Given the description of an element on the screen output the (x, y) to click on. 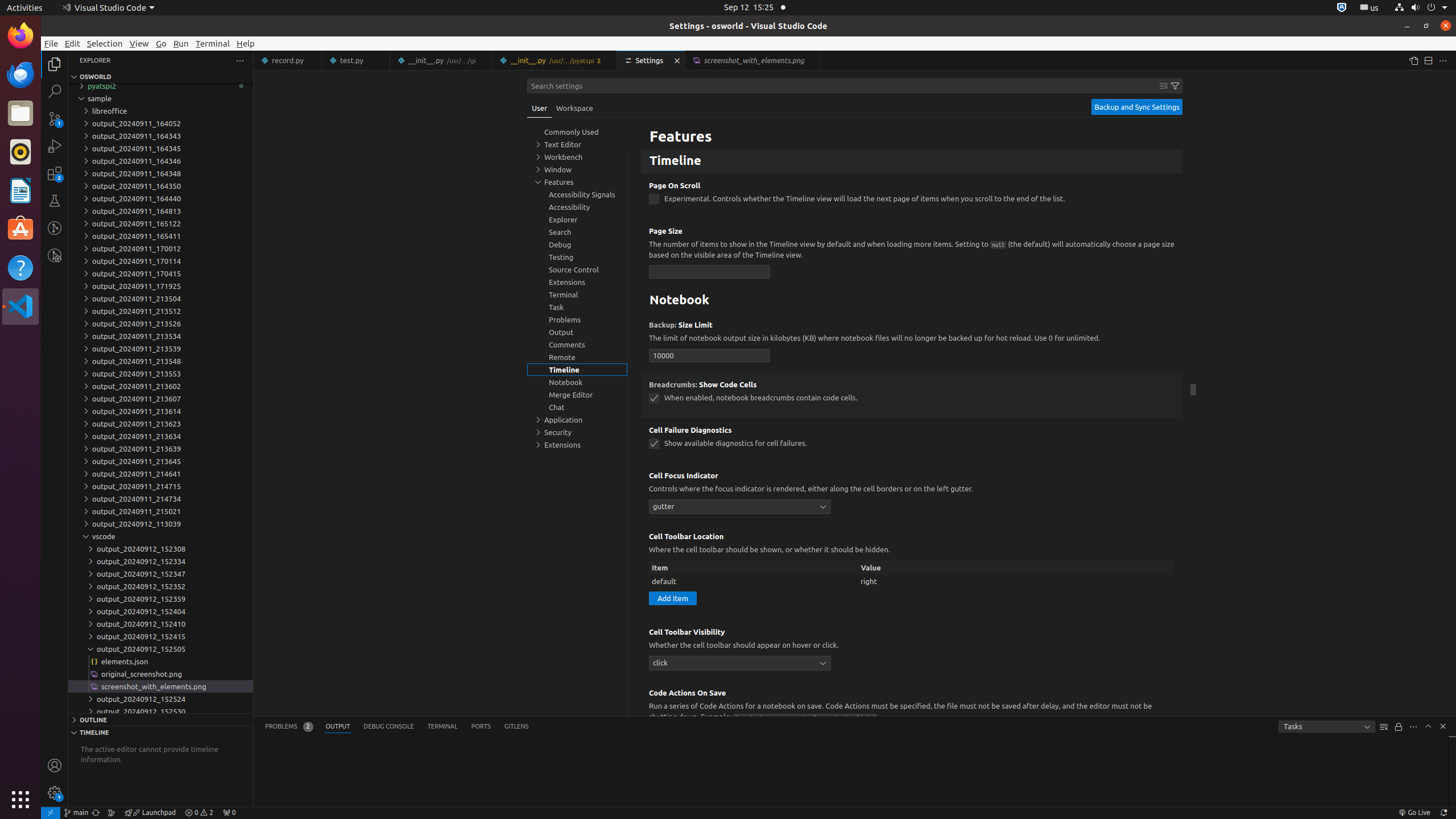
Output (Ctrl+K Ctrl+H) Element type: page-tab (337, 726)
output_20240911_214734 Element type: tree-item (160, 498)
output_20240911_213553 Element type: tree-item (160, 373)
output_20240911_165411 Element type: tree-item (160, 235)
output_20240911_164345 Element type: tree-item (160, 148)
